Given the description of an element on the screen output the (x, y) to click on. 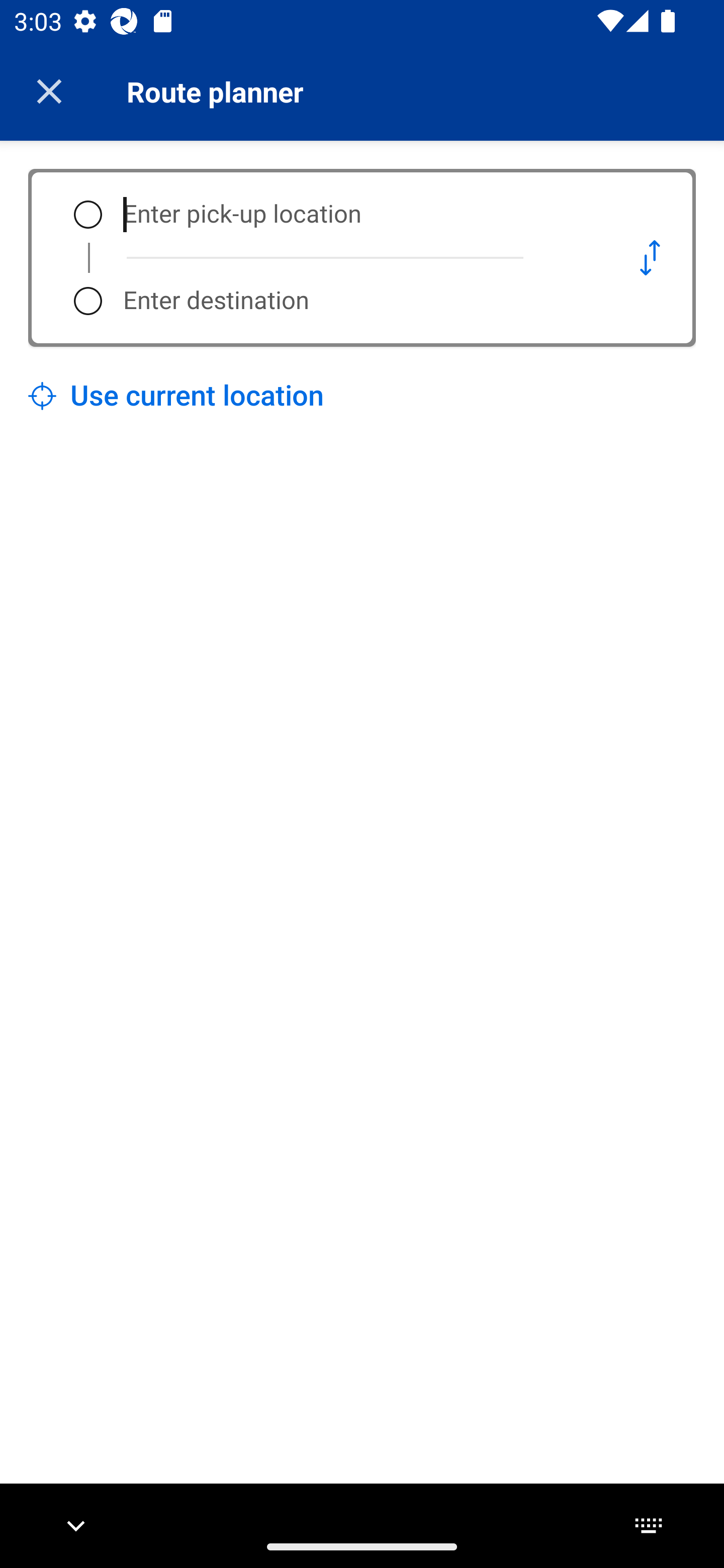
Close (49, 91)
Enter pick-up location (355, 214)
Swap pick-up location and destination (650, 257)
Enter destination (355, 300)
Use current location (176, 395)
